Given the description of an element on the screen output the (x, y) to click on. 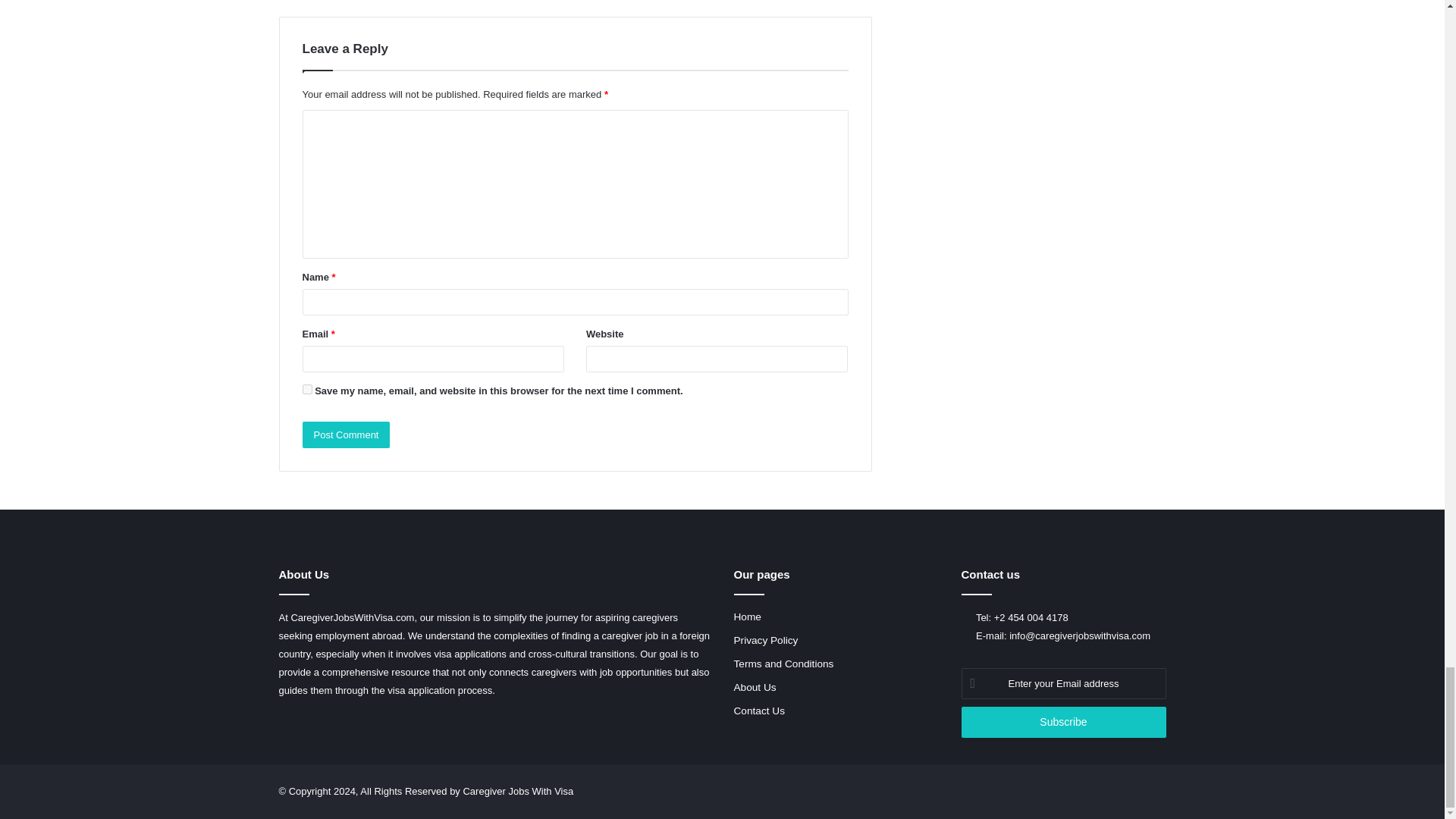
Subscribe (1063, 721)
yes (306, 388)
Post Comment (345, 434)
